Given the description of an element on the screen output the (x, y) to click on. 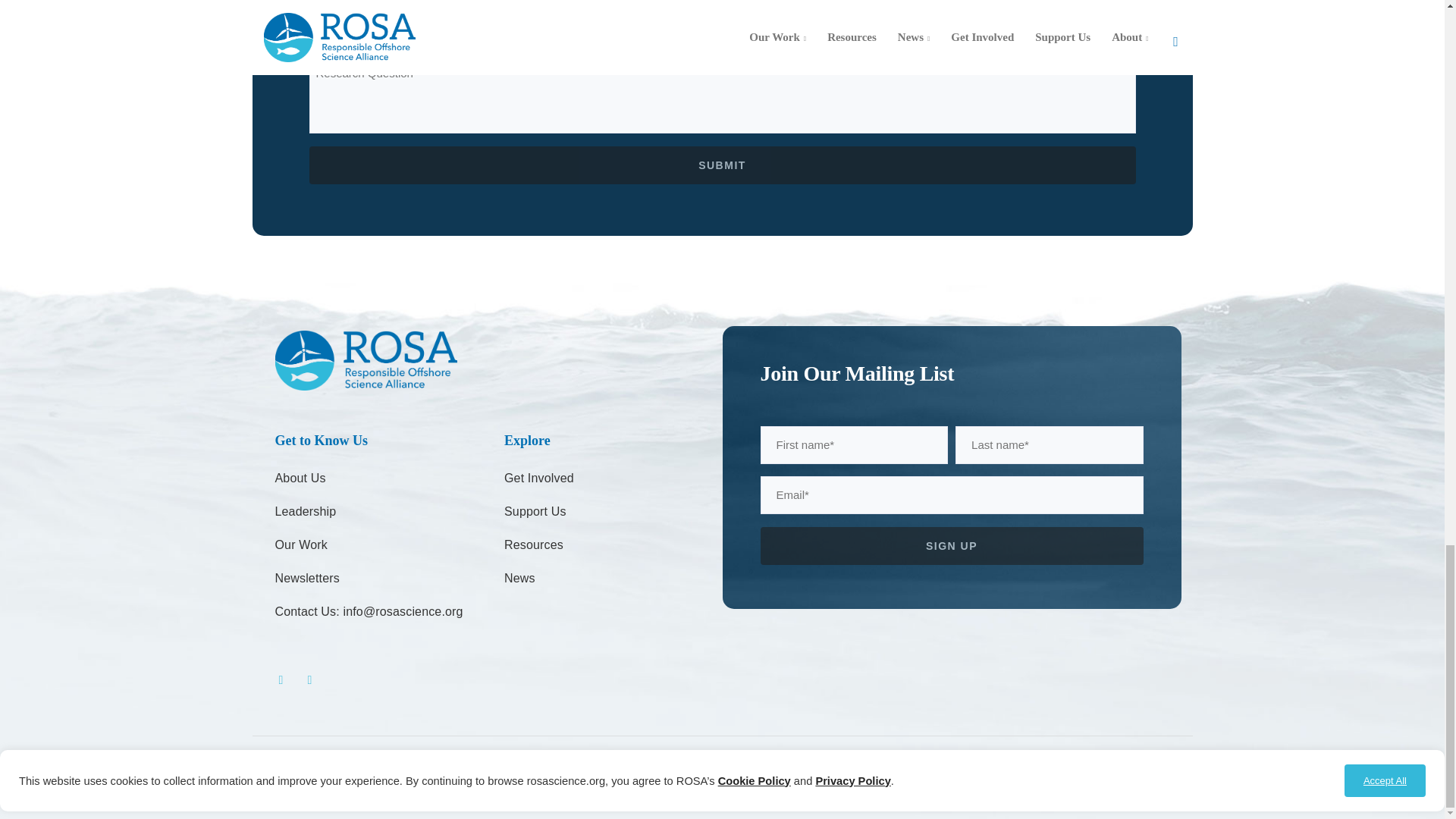
Newsletters (307, 577)
Sign Up (951, 545)
Leadership (305, 511)
Submit (721, 165)
Our Work (300, 544)
Submit (721, 165)
About Us (299, 477)
